Given the description of an element on the screen output the (x, y) to click on. 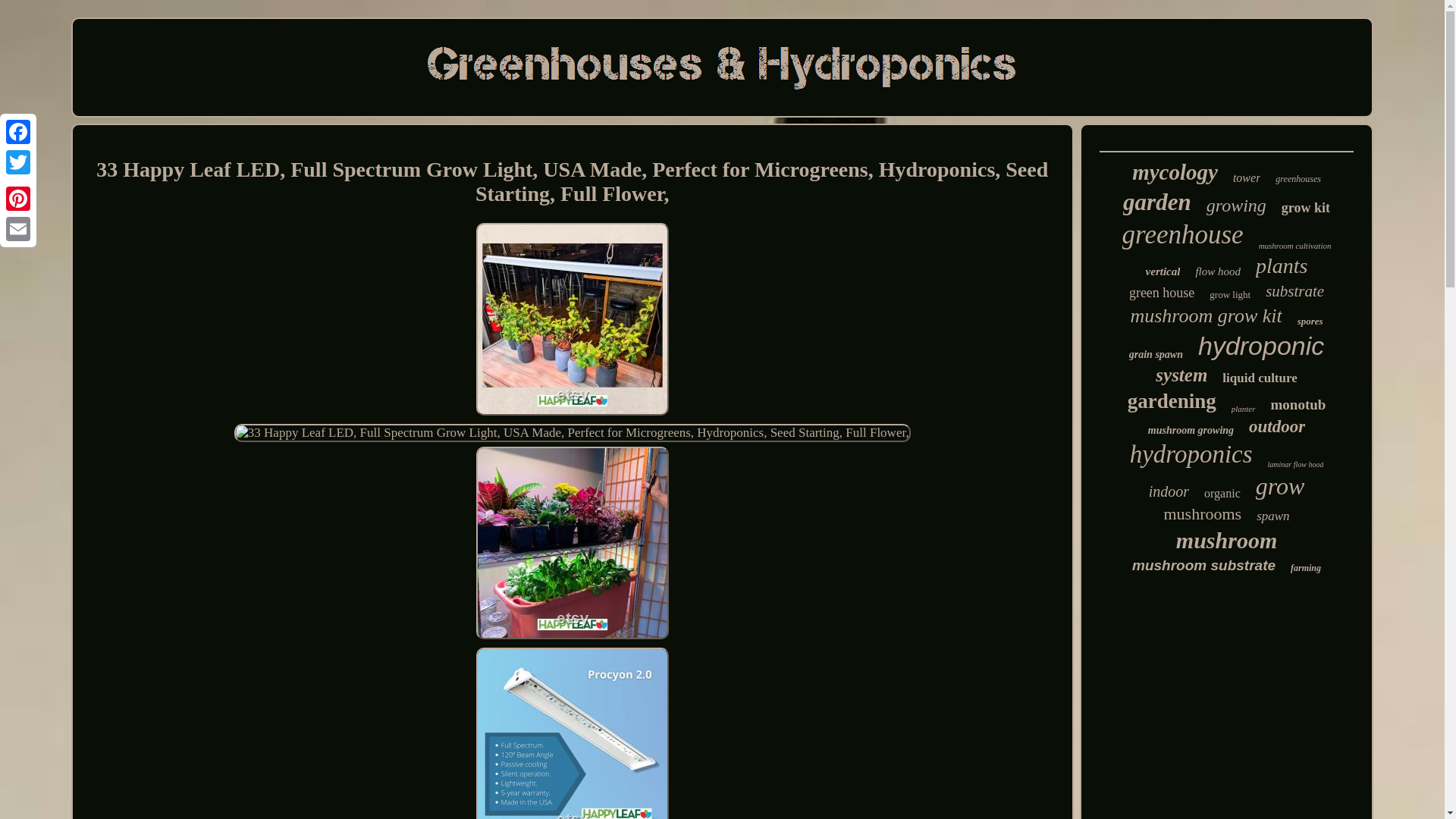
flow hood (1217, 271)
substrate (1294, 291)
growing (1236, 205)
planter (1243, 408)
mushroom cultivation (1295, 245)
tower (1246, 178)
laminar flow hood (1295, 464)
hydroponic (1260, 346)
grow light (1229, 295)
organic (1222, 493)
